Given the description of an element on the screen output the (x, y) to click on. 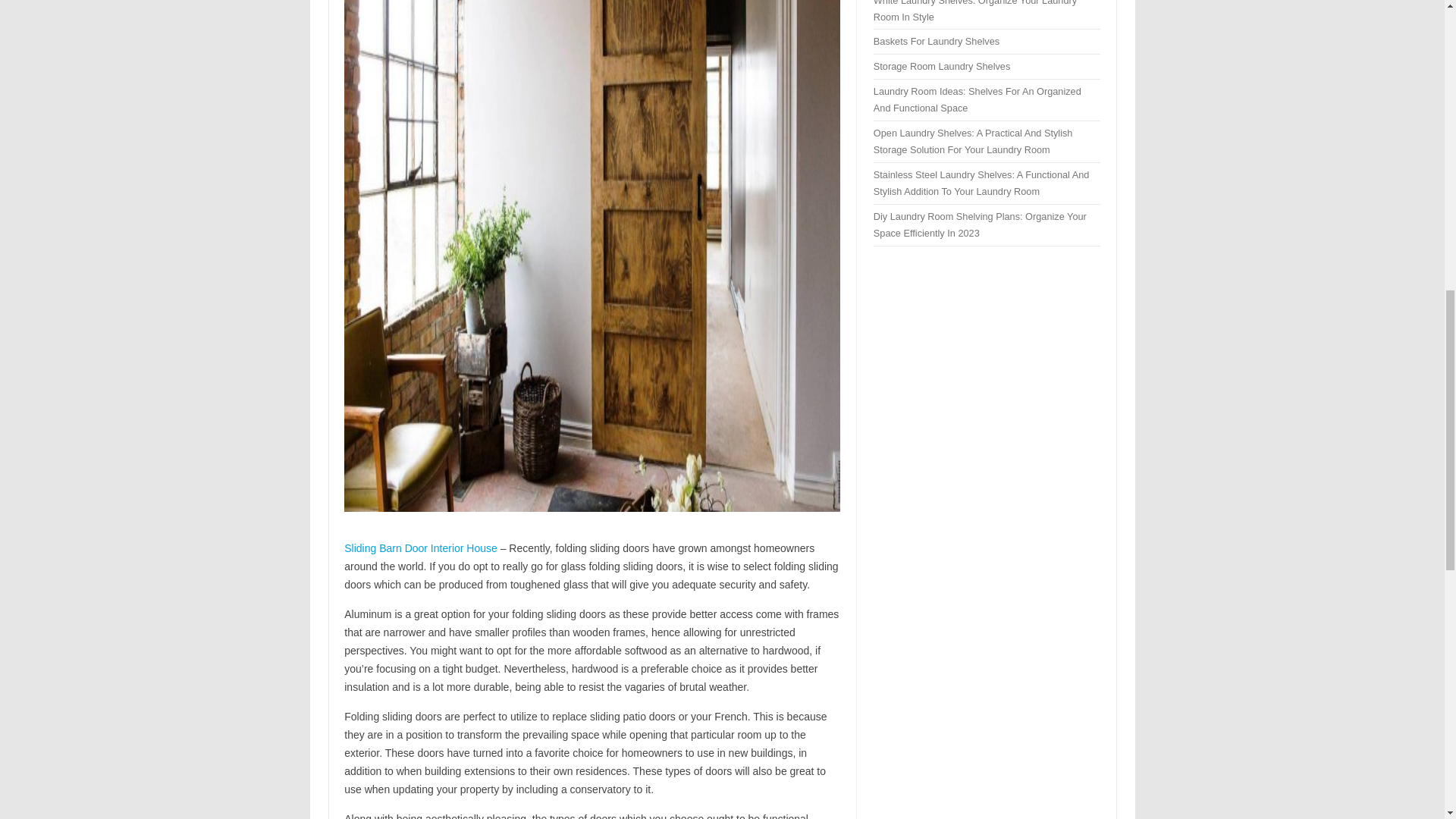
Sliding Barn Door Interior House (420, 548)
